Given the description of an element on the screen output the (x, y) to click on. 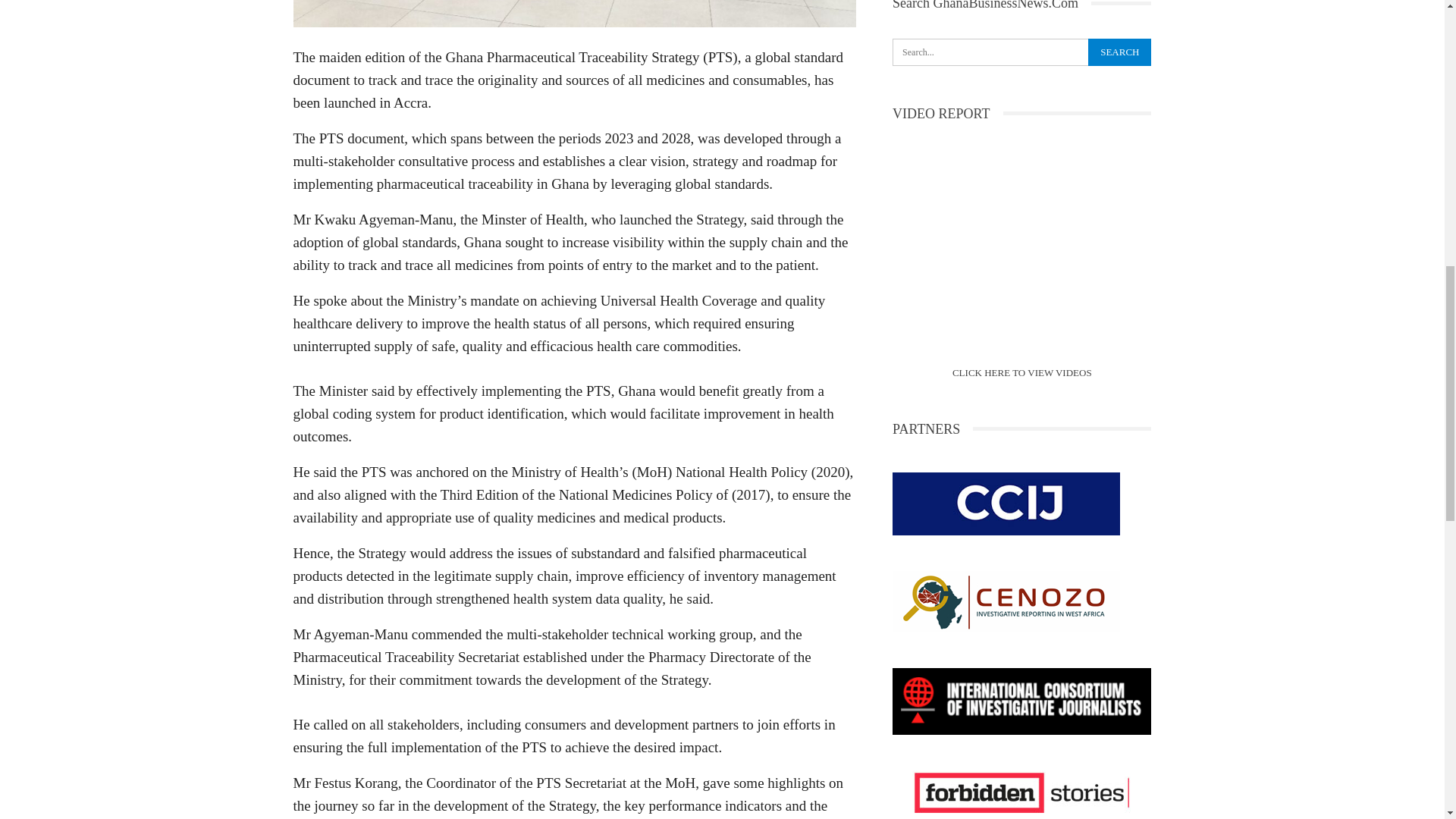
Search (1119, 52)
Search (1119, 52)
